Given the description of an element on the screen output the (x, y) to click on. 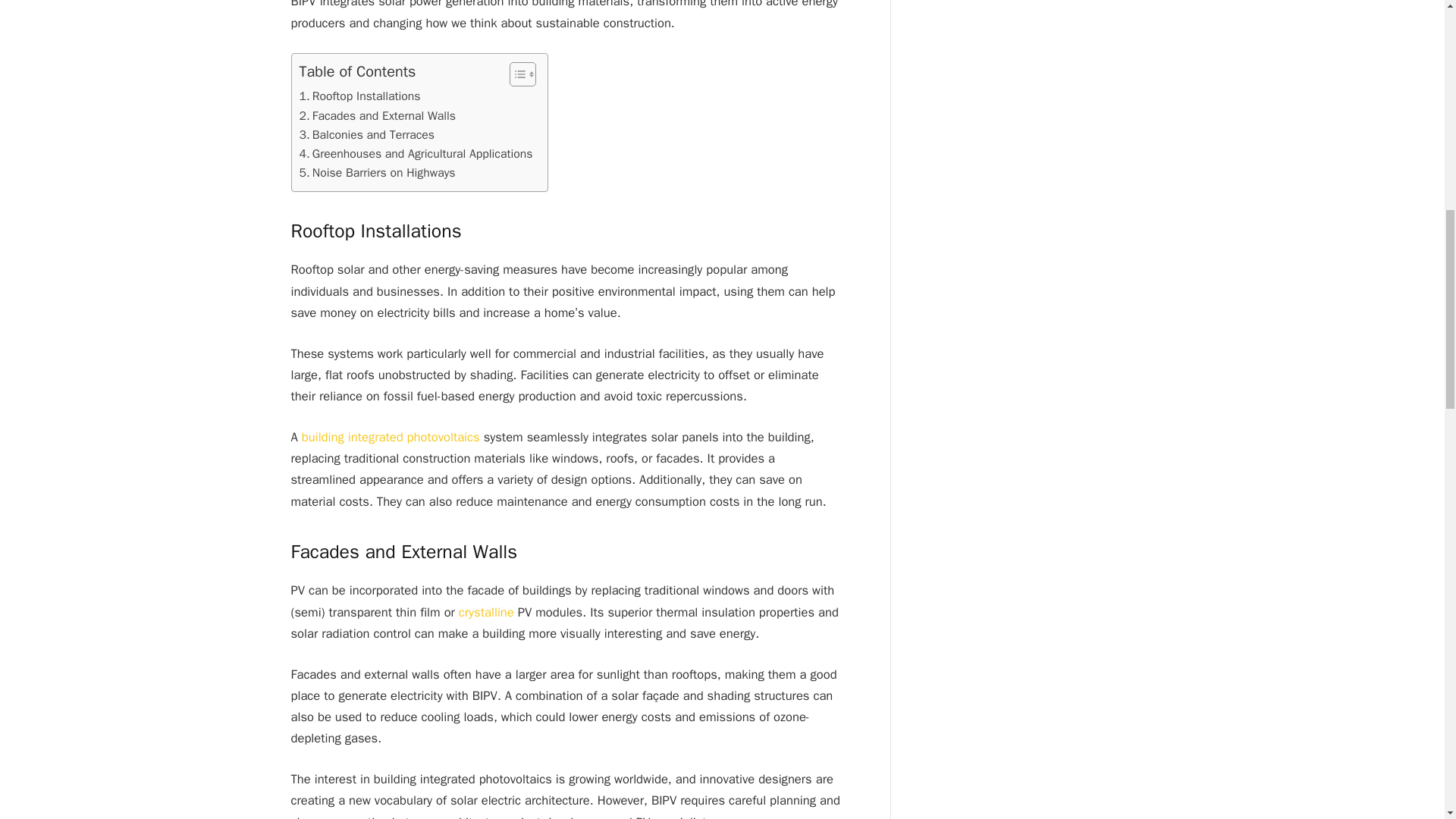
Greenhouses and Agricultural Applications (415, 153)
Balconies and Terraces (365, 135)
Noise Barriers on Highways (376, 172)
Balconies and Terraces (365, 135)
Noise Barriers on Highways (376, 172)
Rooftop Installations (359, 96)
Rooftop Installations (359, 96)
Greenhouses and Agricultural Applications (415, 153)
Facades and External Walls (376, 116)
Facades and External Walls (376, 116)
